Given the description of an element on the screen output the (x, y) to click on. 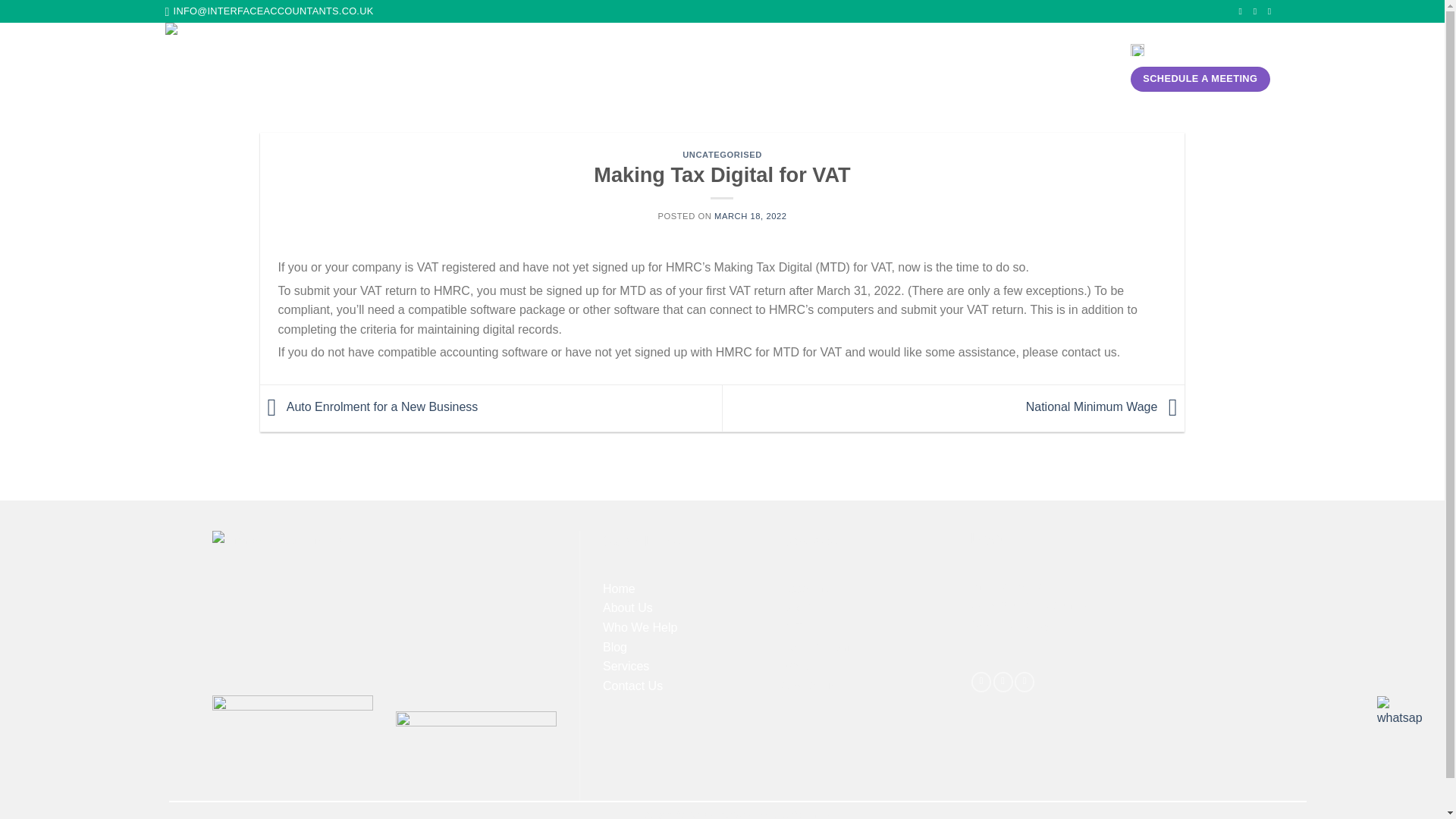
ABOUT US (553, 66)
SERVICES (724, 66)
Send Whatsapp Message (1399, 712)
Follow on LinkedIn (1023, 681)
Interface Accountants (247, 65)
CONTACT US (852, 66)
Follow on Twitter (1002, 681)
HOME (495, 66)
BLOGS (787, 66)
Follow on Facebook (981, 681)
